Given the description of an element on the screen output the (x, y) to click on. 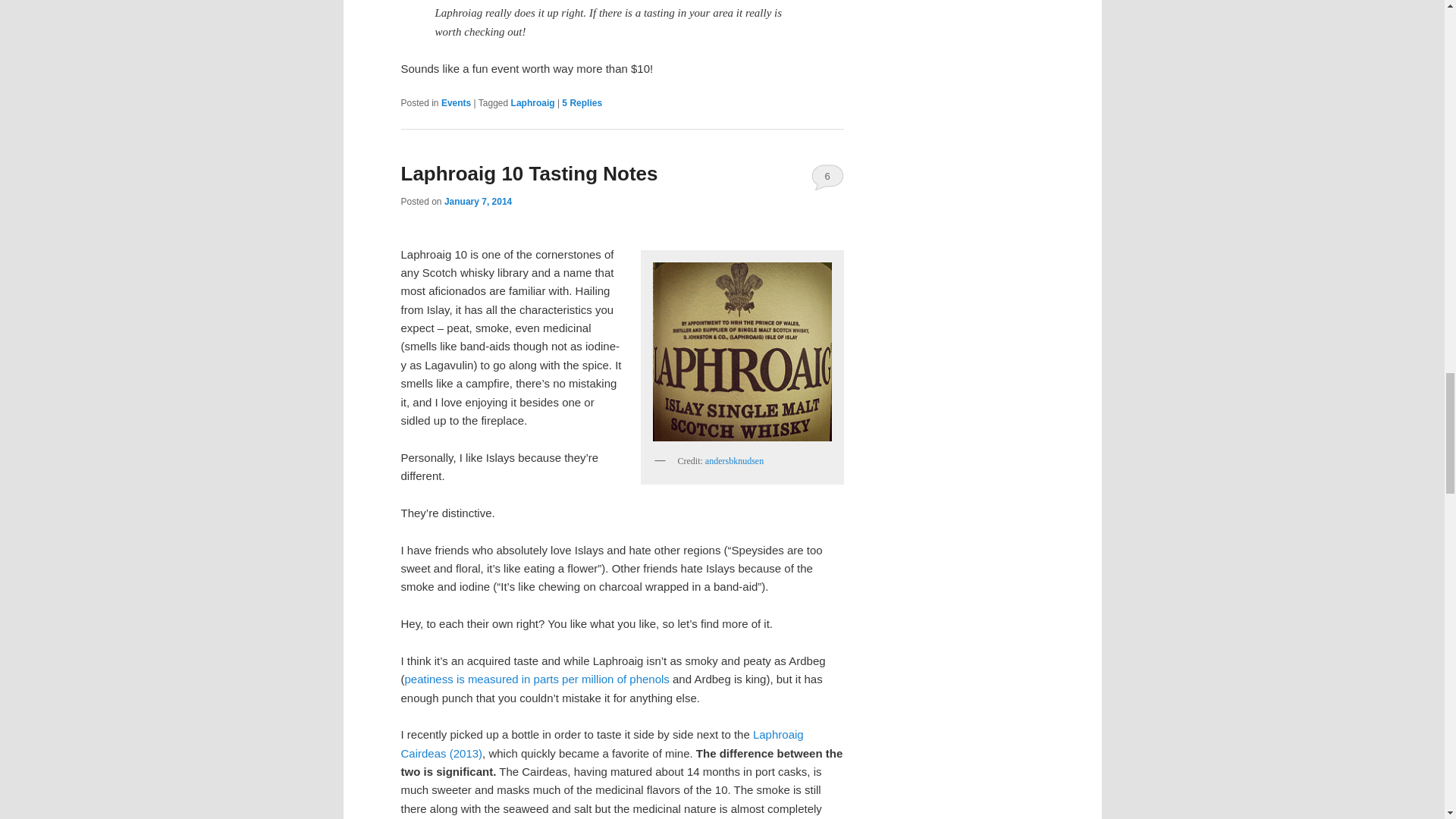
January 7, 2014 (478, 201)
6 (827, 176)
Laphroaig 10 Tasting Notes (529, 173)
peatiness is measured in parts per million of phenols (536, 678)
Events (455, 102)
5 Replies (582, 102)
Laphroaig (532, 102)
andersbknudsen (733, 460)
12:21 pm (478, 201)
